Given the description of an element on the screen output the (x, y) to click on. 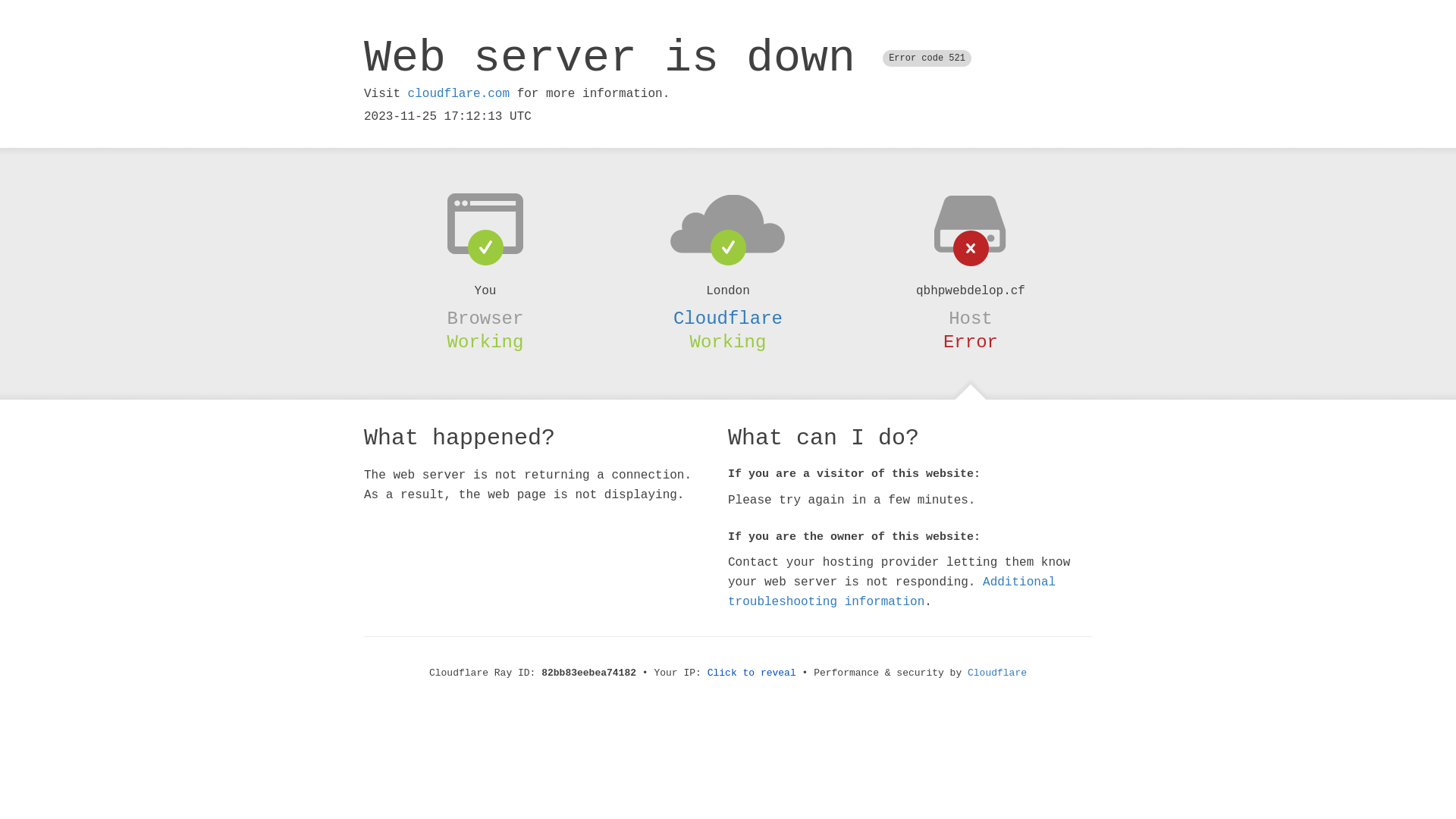
Additional troubleshooting information Element type: text (891, 591)
Cloudflare Element type: text (996, 672)
Click to reveal Element type: text (751, 672)
Cloudflare Element type: text (727, 318)
cloudflare.com Element type: text (458, 93)
